Given the description of an element on the screen output the (x, y) to click on. 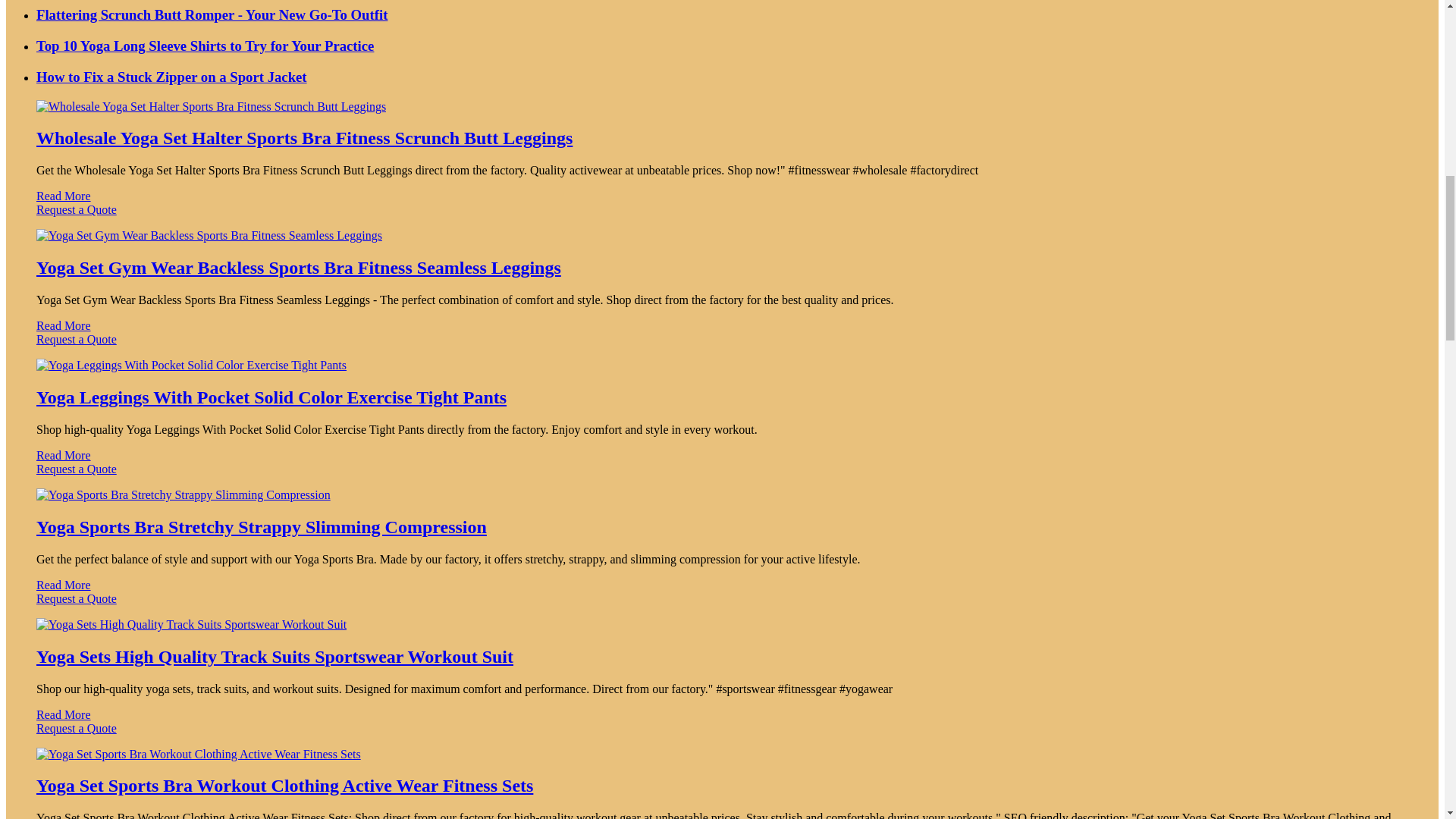
Yoga Leggings With Pocket Solid Color Exercise Tight Pants (271, 397)
Request a Quote (721, 475)
Read More (63, 325)
Request a Quote (721, 346)
Request a Quote (721, 216)
Read More (63, 195)
Read More (63, 454)
